Given the description of an element on the screen output the (x, y) to click on. 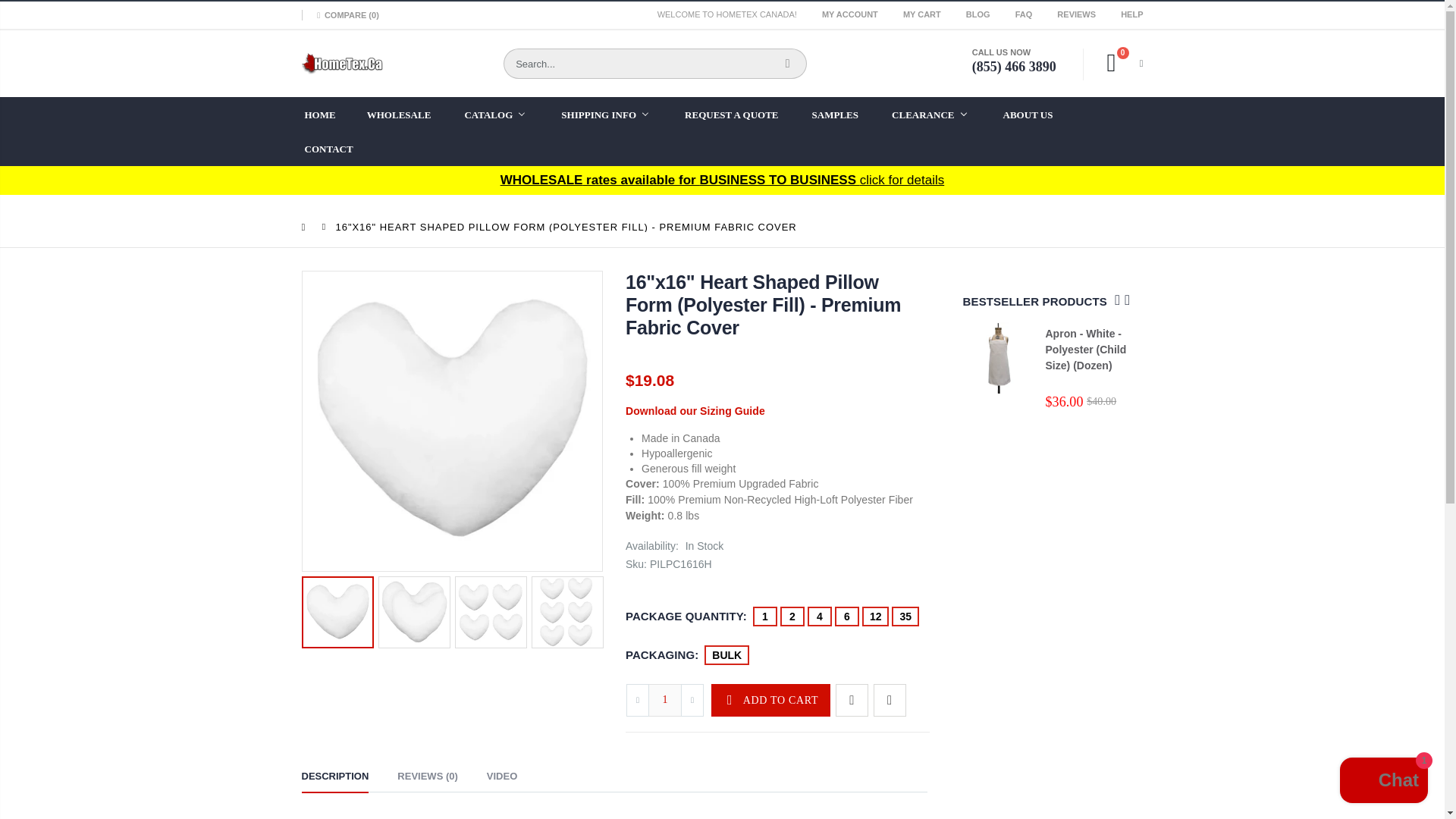
WHOLESALE (407, 114)
Search (787, 63)
FAQ (1024, 13)
0 (1117, 61)
CATALOG (504, 114)
REVIEWS (1077, 13)
BLOG (979, 13)
MY ACCOUNT (851, 13)
MY CART (922, 13)
HOME (328, 114)
1 (664, 699)
HELP (1131, 13)
